Given the description of an element on the screen output the (x, y) to click on. 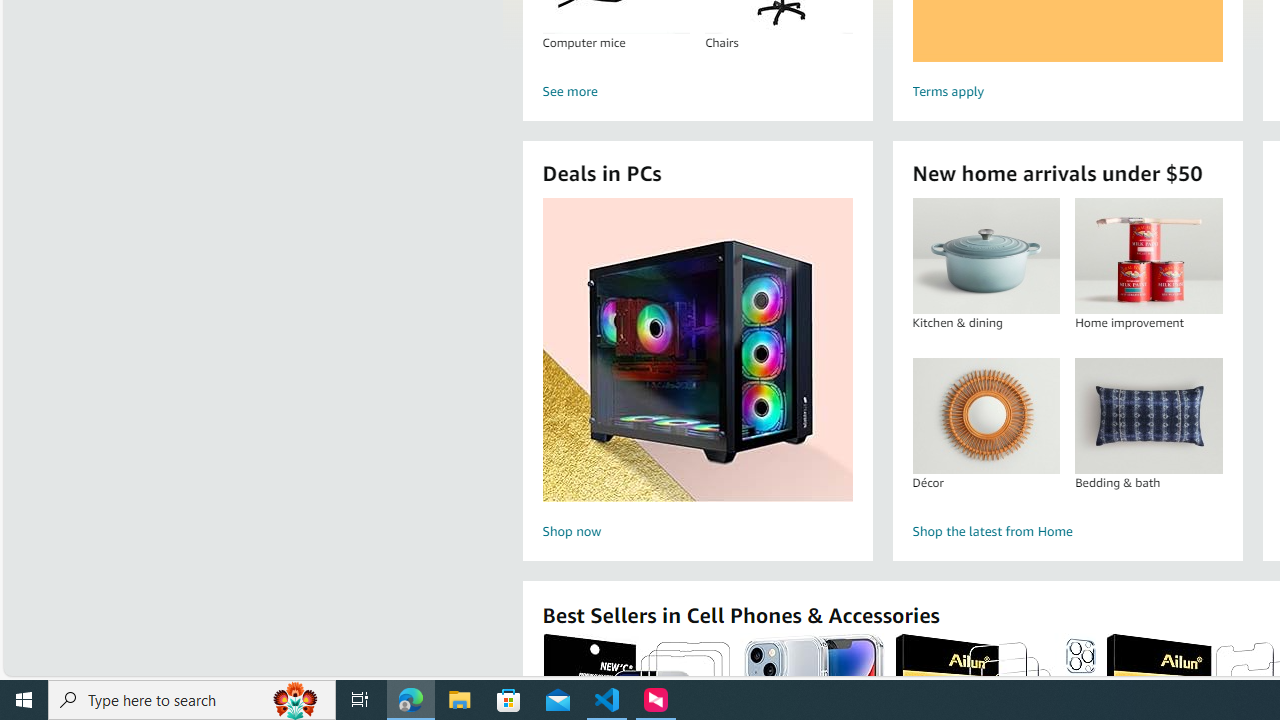
Kitchen & dining (985, 256)
Bedding & bath (1148, 415)
Shop the latest from Home (1066, 532)
Home improvement (1148, 256)
Deals in PCs (697, 349)
Deals in PCs Shop now (697, 371)
Bedding & bath (1148, 415)
Kitchen & dining (986, 256)
See more (696, 92)
Home improvement (1148, 256)
